Given the description of an element on the screen output the (x, y) to click on. 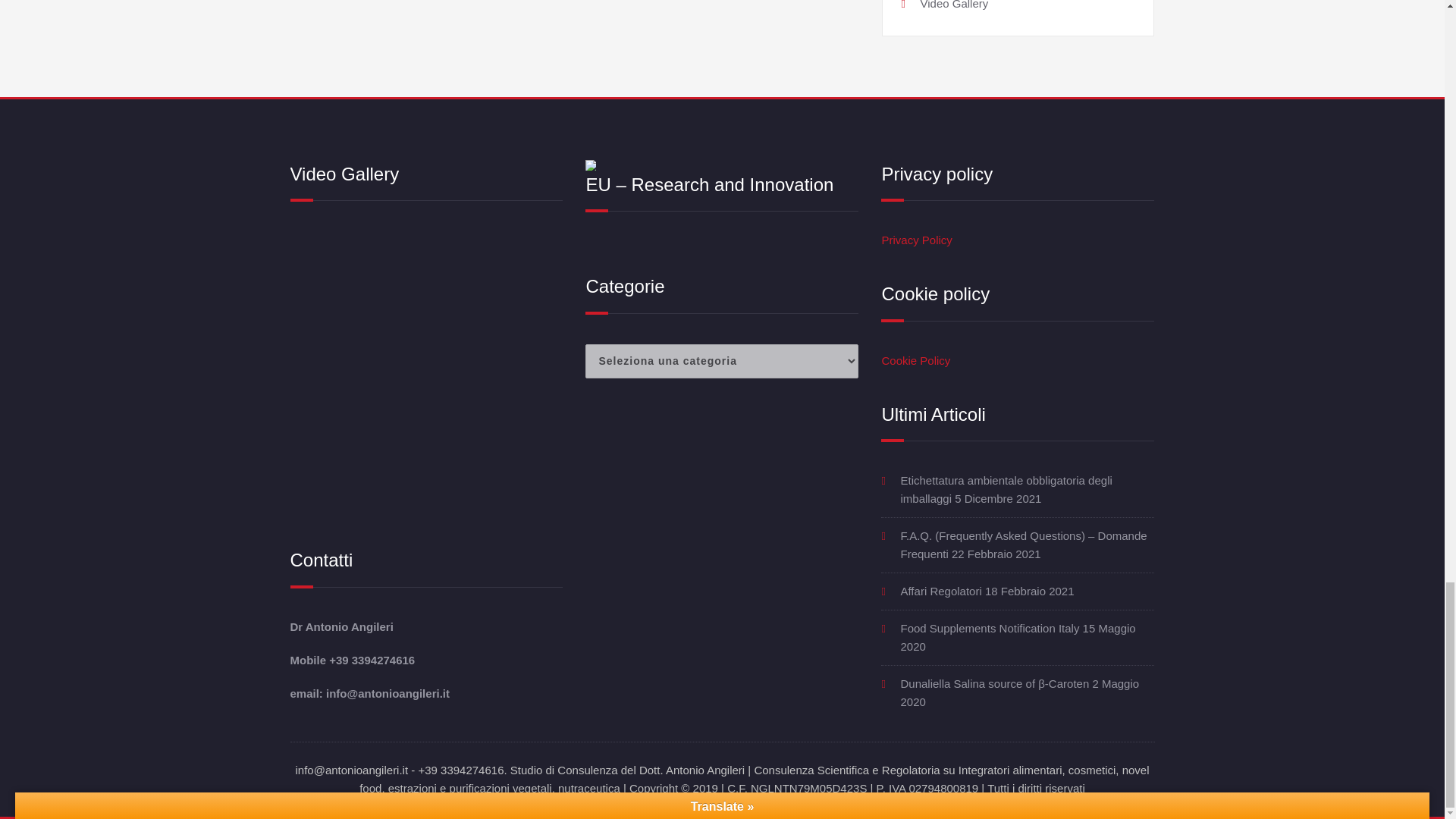
Privacy Policy  (916, 239)
Cookie Policy  (915, 359)
